Given the description of an element on the screen output the (x, y) to click on. 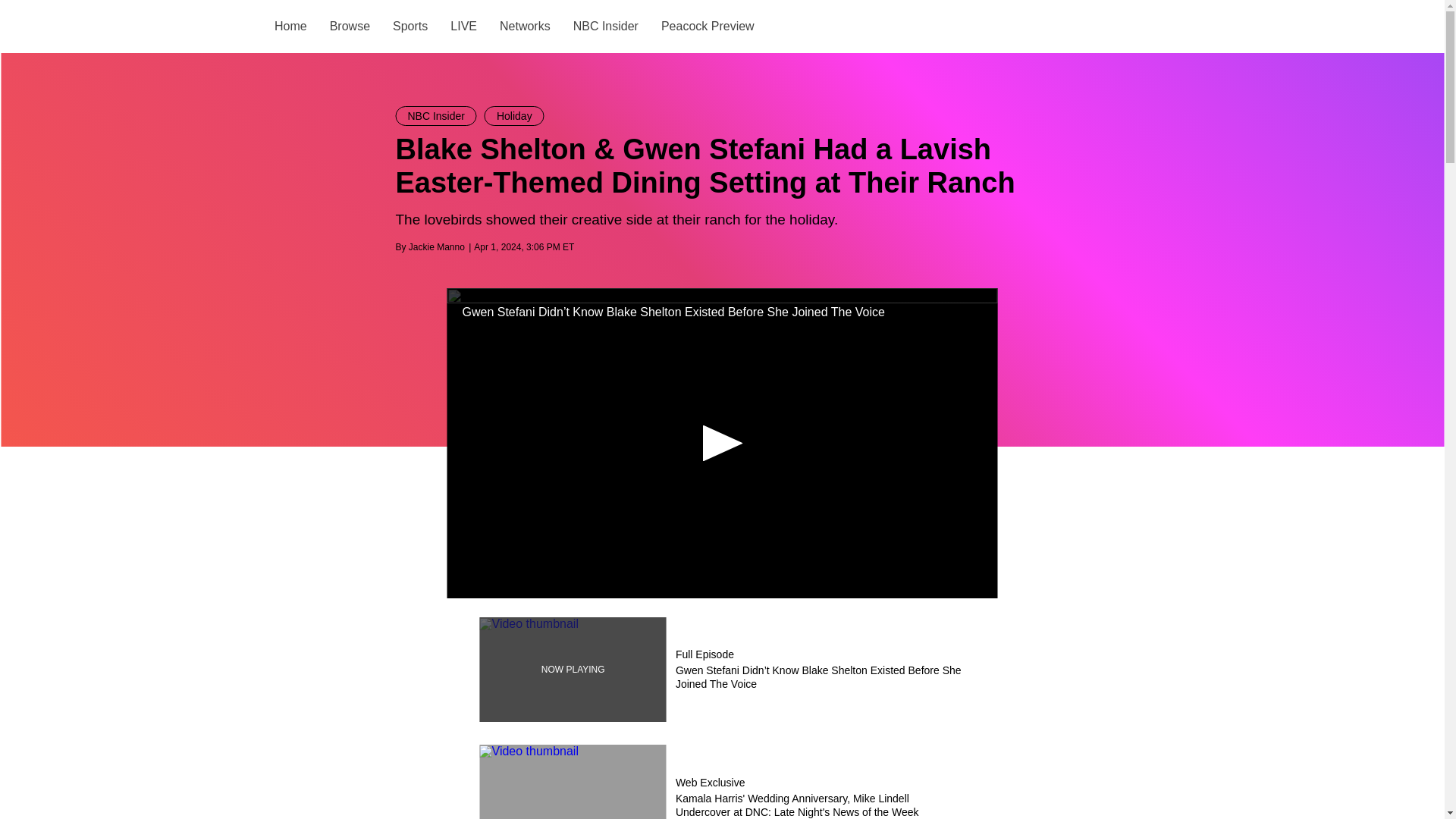
LIVE (463, 26)
Jackie Manno (436, 246)
NBC (239, 26)
NBC Insider (436, 116)
Peacock Preview (707, 26)
NBC Insider (604, 26)
Sports (410, 26)
Networks (524, 26)
